Given the description of an element on the screen output the (x, y) to click on. 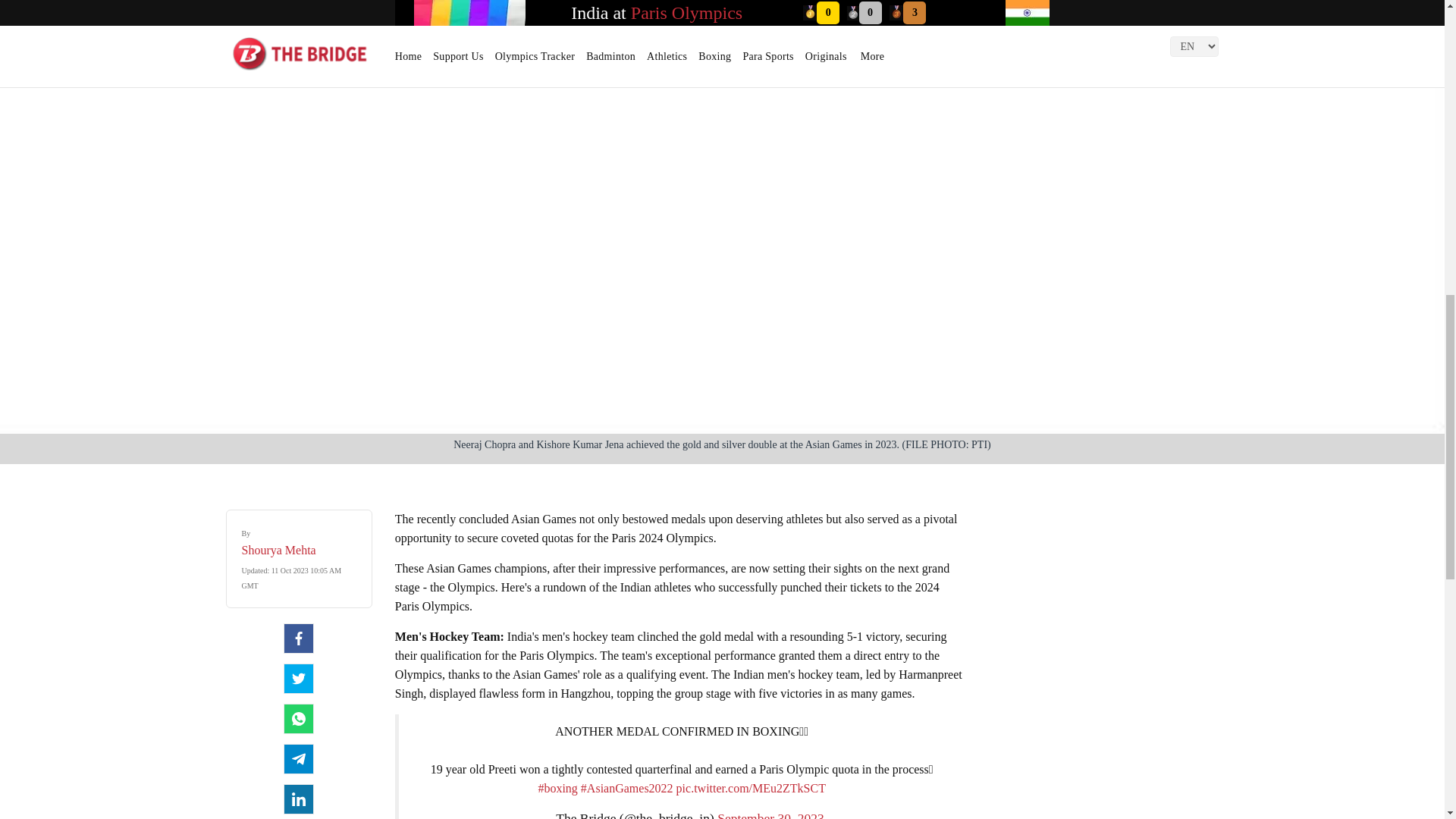
LinkedIn (298, 798)
